Given the description of an element on the screen output the (x, y) to click on. 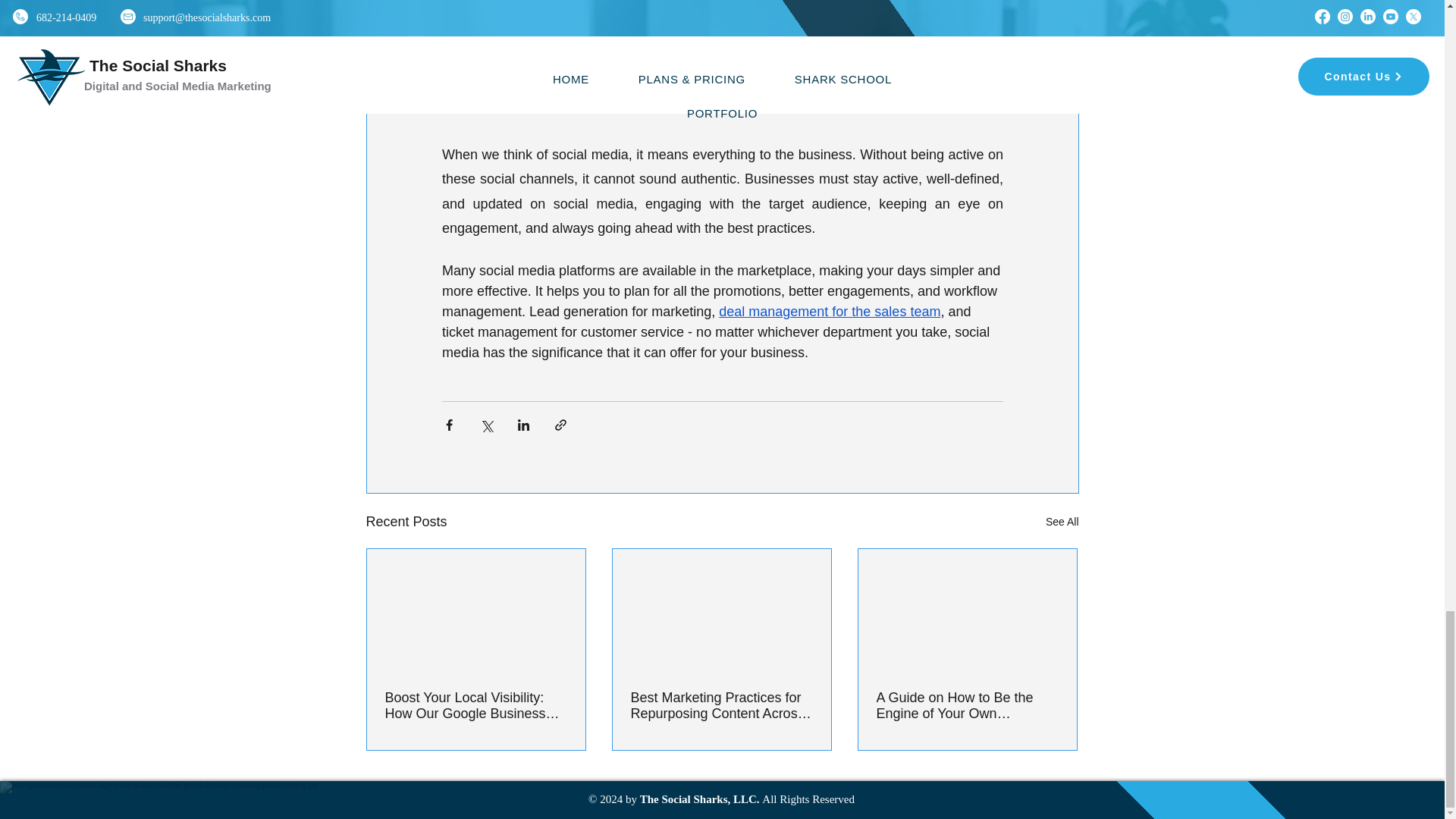
deal management for the sales team (829, 311)
